Given the description of an element on the screen output the (x, y) to click on. 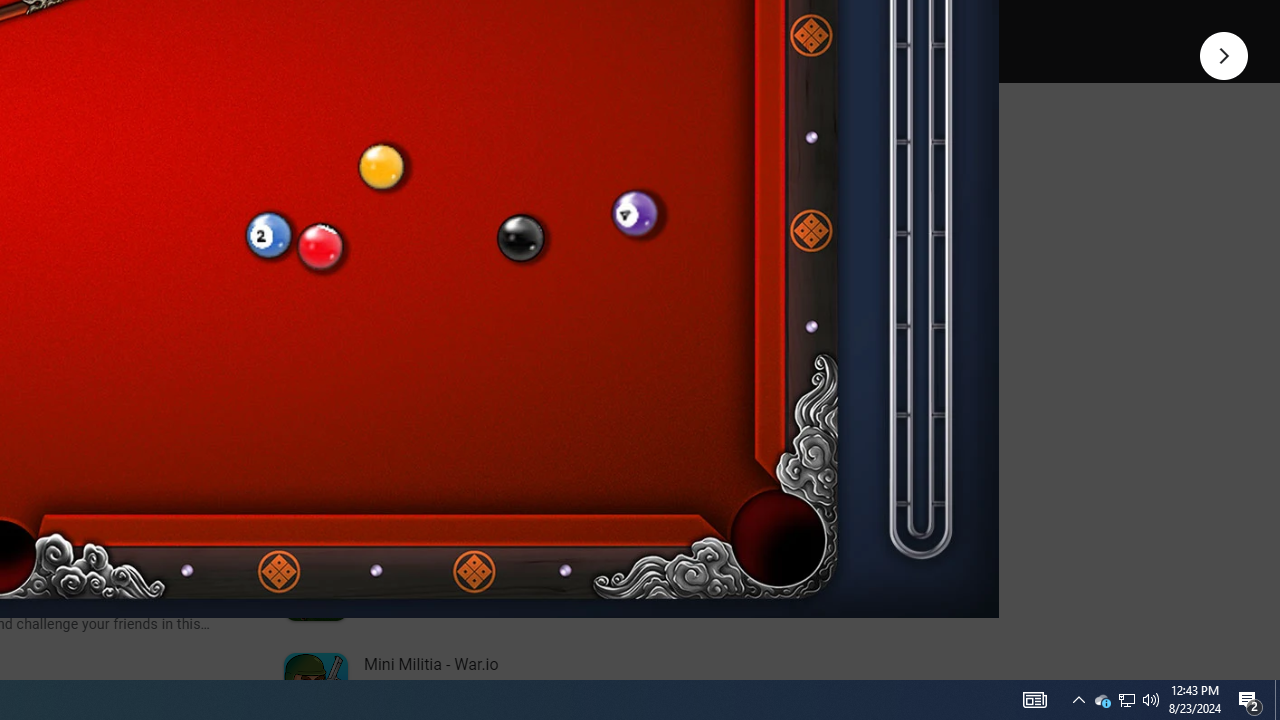
See more information on More by Miniclip.com (530, 229)
Play trailer (587, 24)
Scroll Next (212, 272)
Expand (441, 155)
